Given the description of an element on the screen output the (x, y) to click on. 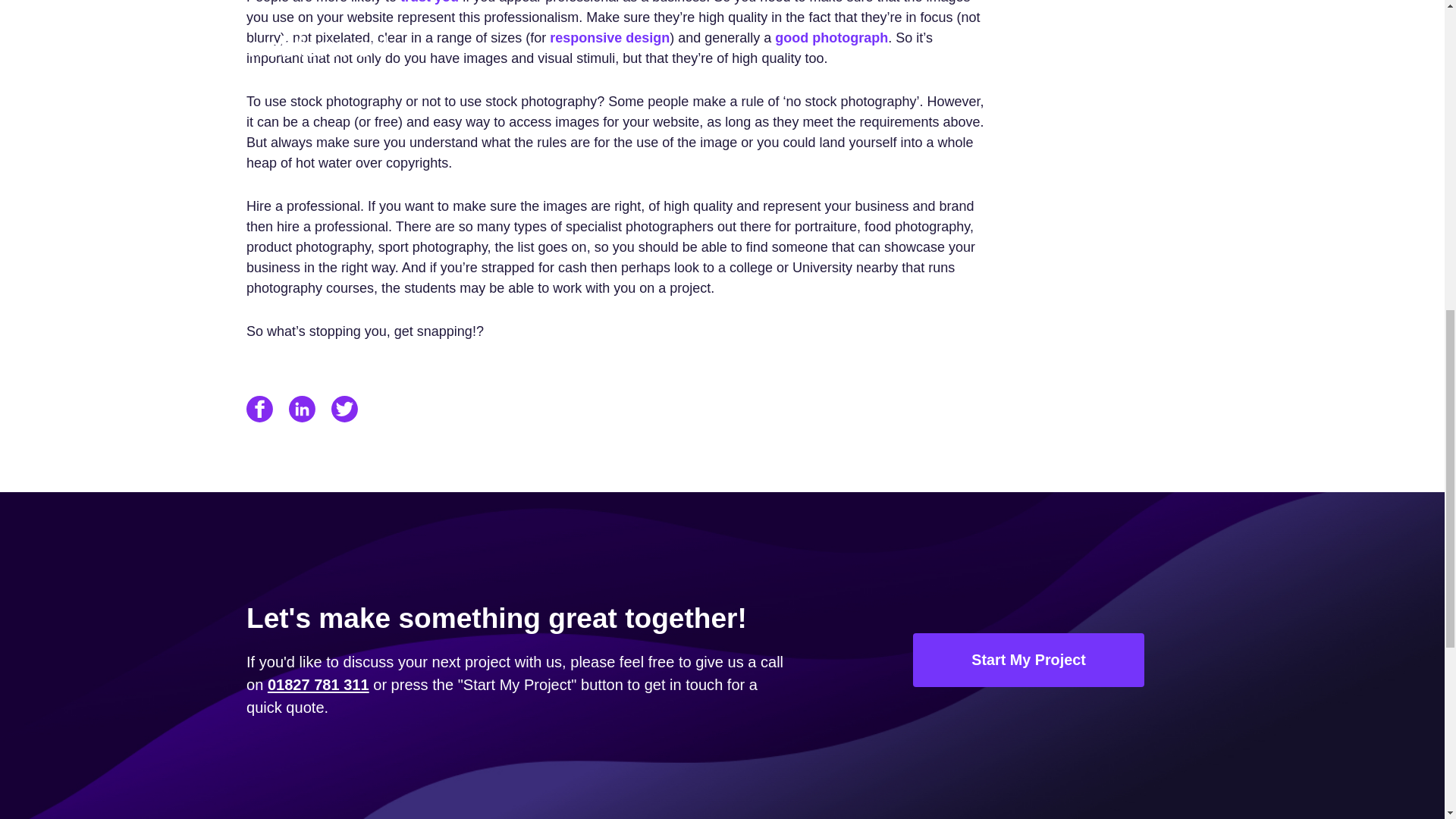
good photograph (831, 37)
Privacy Policy (1178, 39)
trust you (429, 2)
responsive design (609, 37)
01827 781 311 (318, 684)
Start My Project (1028, 660)
